Given the description of an element on the screen output the (x, y) to click on. 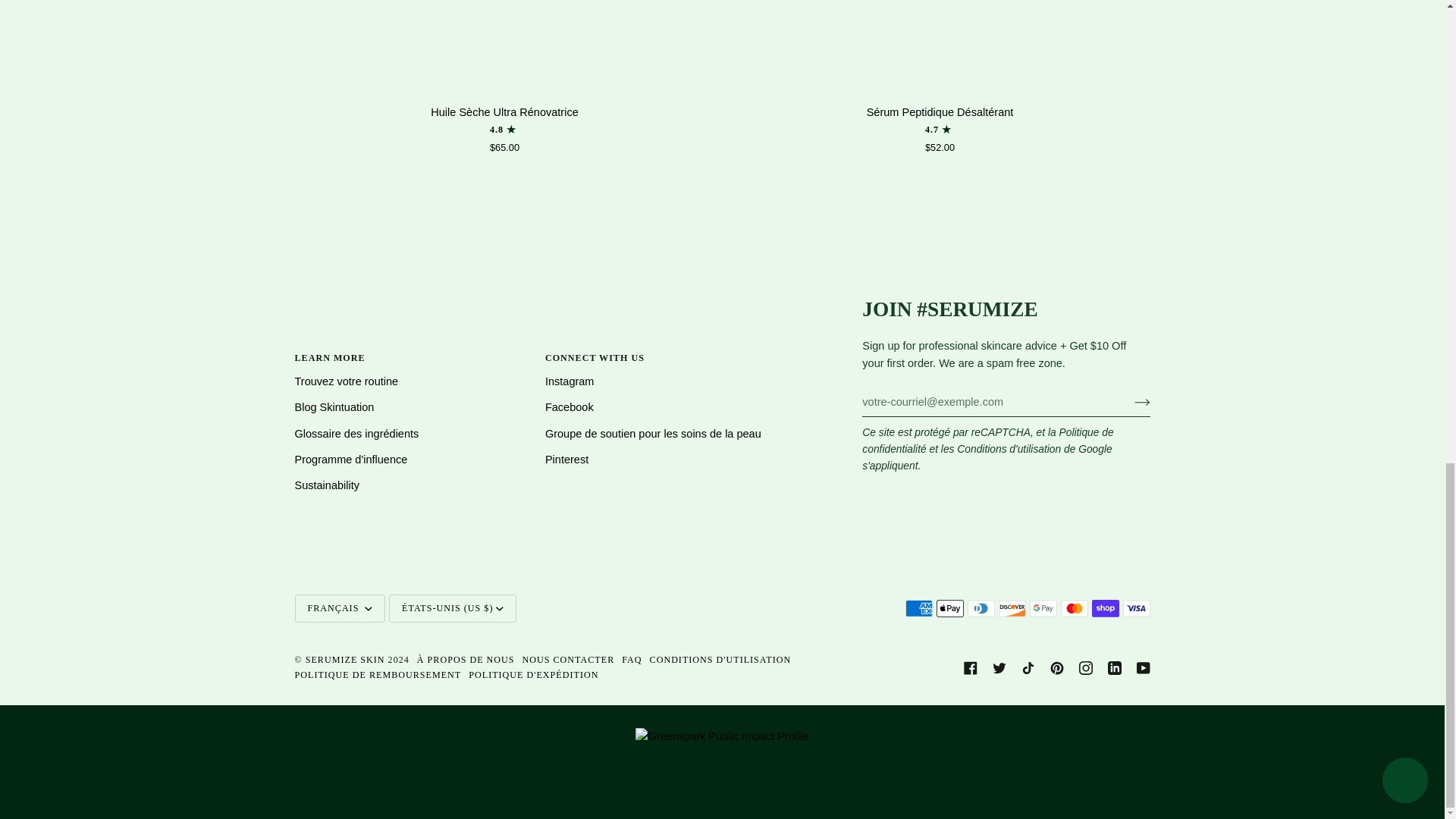
Twitter (998, 667)
Linkedin (1113, 667)
AMERICAN EXPRESS (919, 607)
DISCOVER (1011, 607)
YouTube (1142, 667)
Tiktok (1026, 667)
DINERS CLUB (981, 607)
VISA (1136, 607)
Facebook (969, 667)
Instagram (1085, 667)
